Given the description of an element on the screen output the (x, y) to click on. 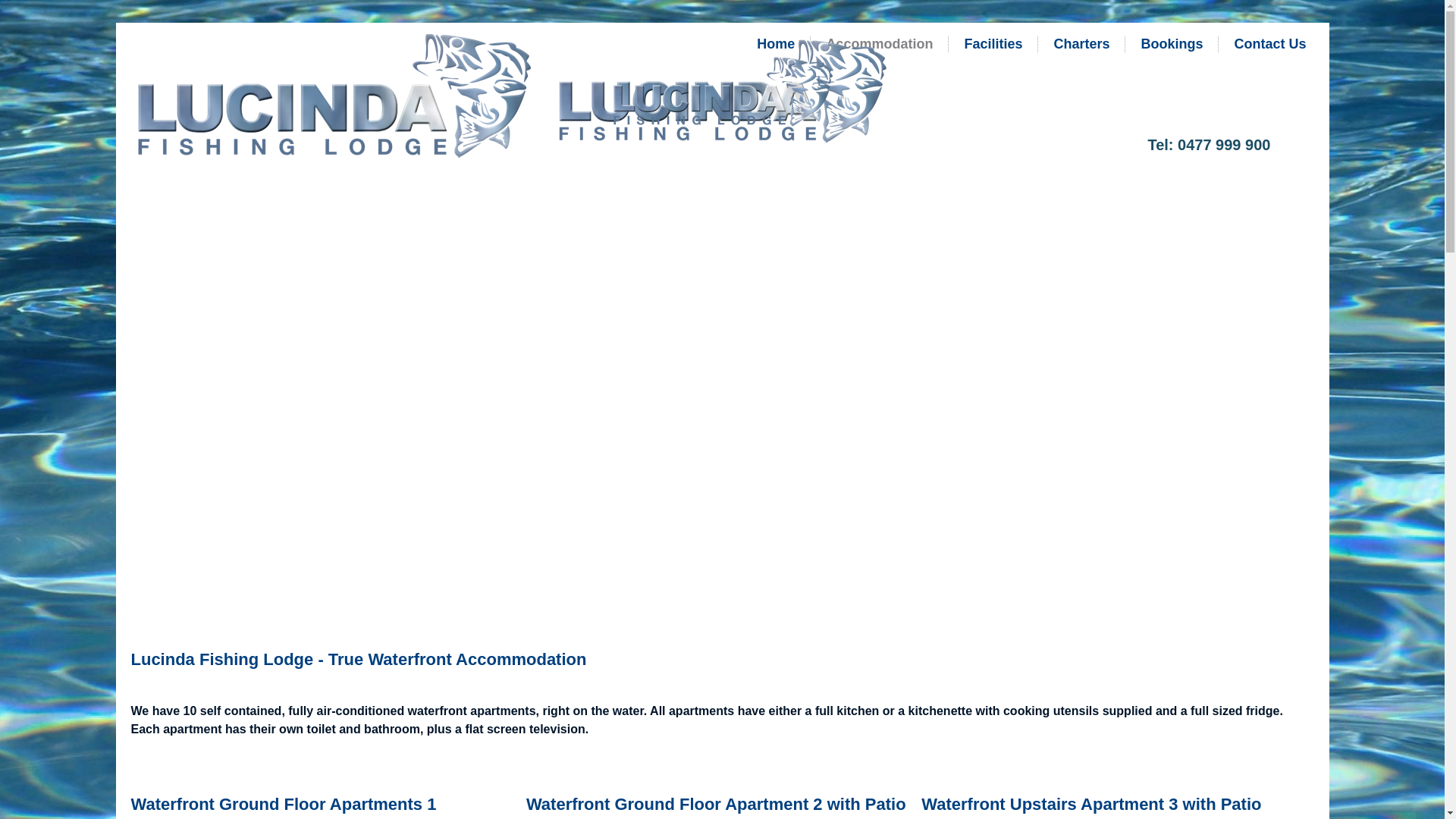
Facilities Element type: text (992, 43)
Bookings Element type: text (1171, 43)
Home Element type: text (775, 43)
Accommodation Element type: text (879, 43)
Charters Element type: text (1080, 43)
Contact Us Element type: text (1269, 43)
